Given the description of an element on the screen output the (x, y) to click on. 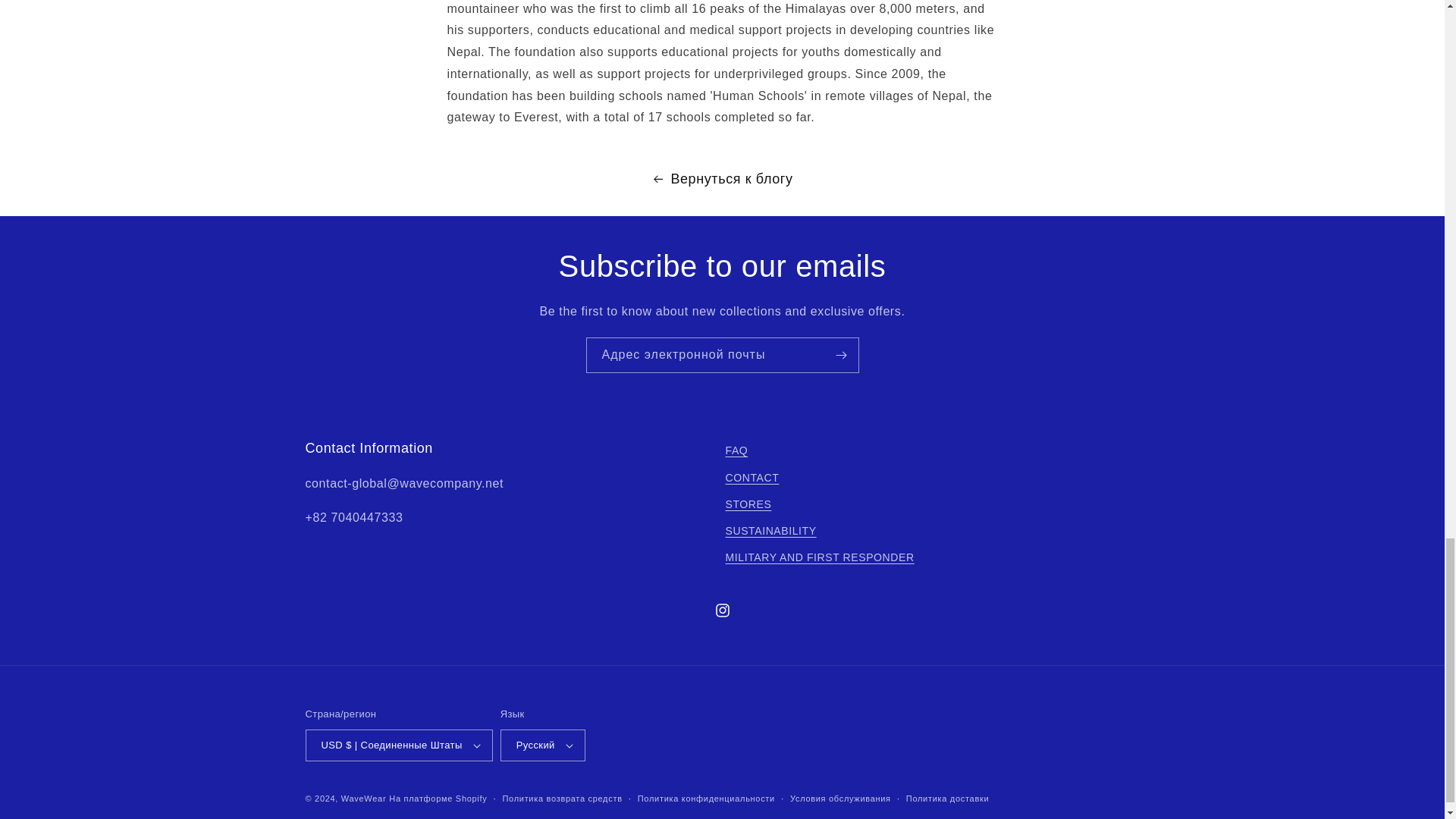
STORES (748, 504)
Instagram (721, 610)
SUSTAINABILITY (770, 530)
MILITARY AND FIRST RESPONDER (819, 557)
CONTACT (751, 478)
FAQ (736, 452)
